Given the description of an element on the screen output the (x, y) to click on. 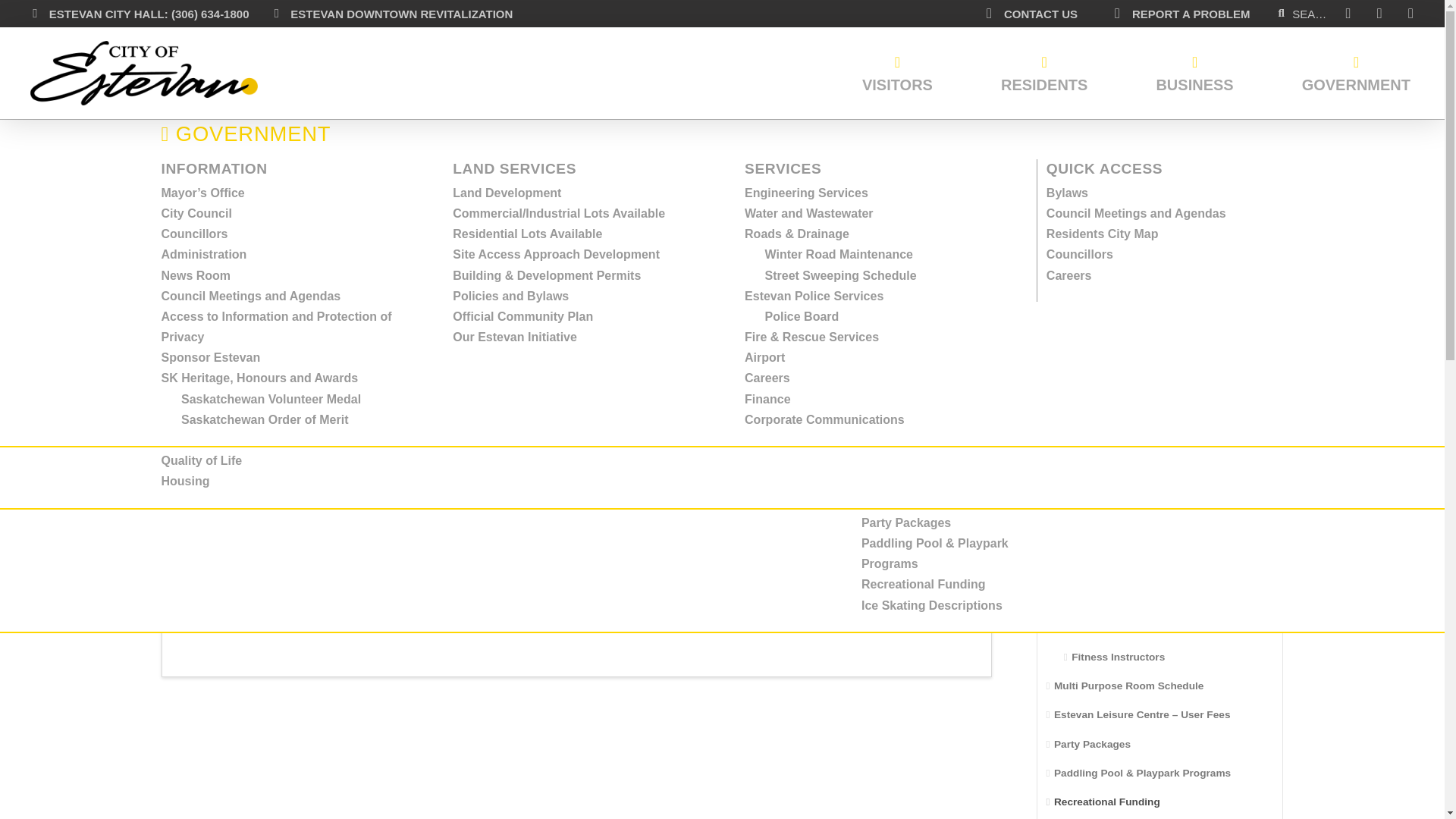
Estevan Farmers Market (464, 316)
Affinity Place (198, 254)
Culinary Tour (666, 213)
RESIDENTS (1043, 72)
Motor Sports (432, 213)
Culinary Tour (666, 373)
Sports (413, 275)
Upcoming Events (211, 192)
REPORT A PROBLEM (1179, 13)
Contact Tourism Estevan (934, 233)
